Given the description of an element on the screen output the (x, y) to click on. 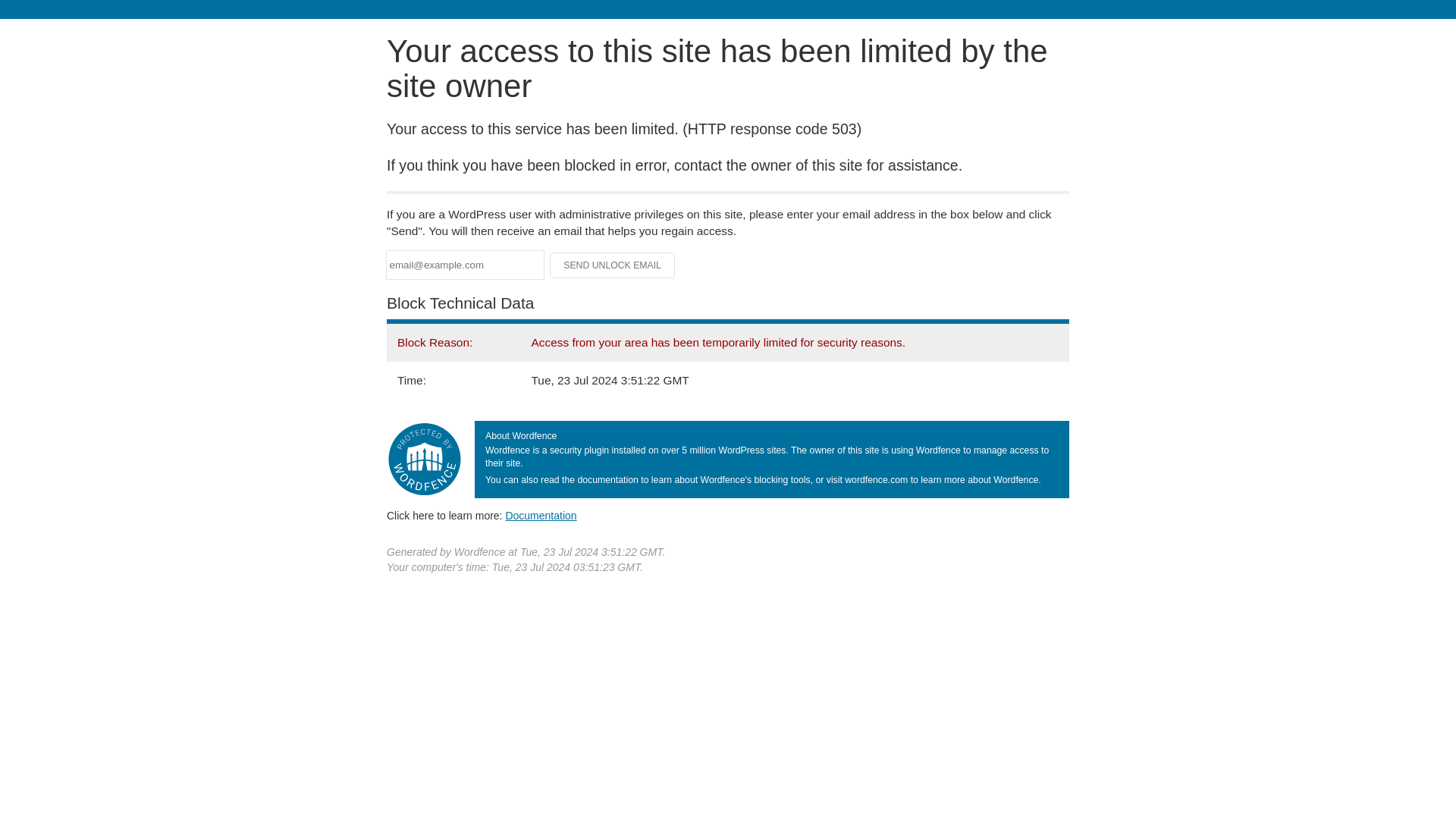
Send Unlock Email (612, 265)
Documentation (540, 515)
Send Unlock Email (612, 265)
